Given the description of an element on the screen output the (x, y) to click on. 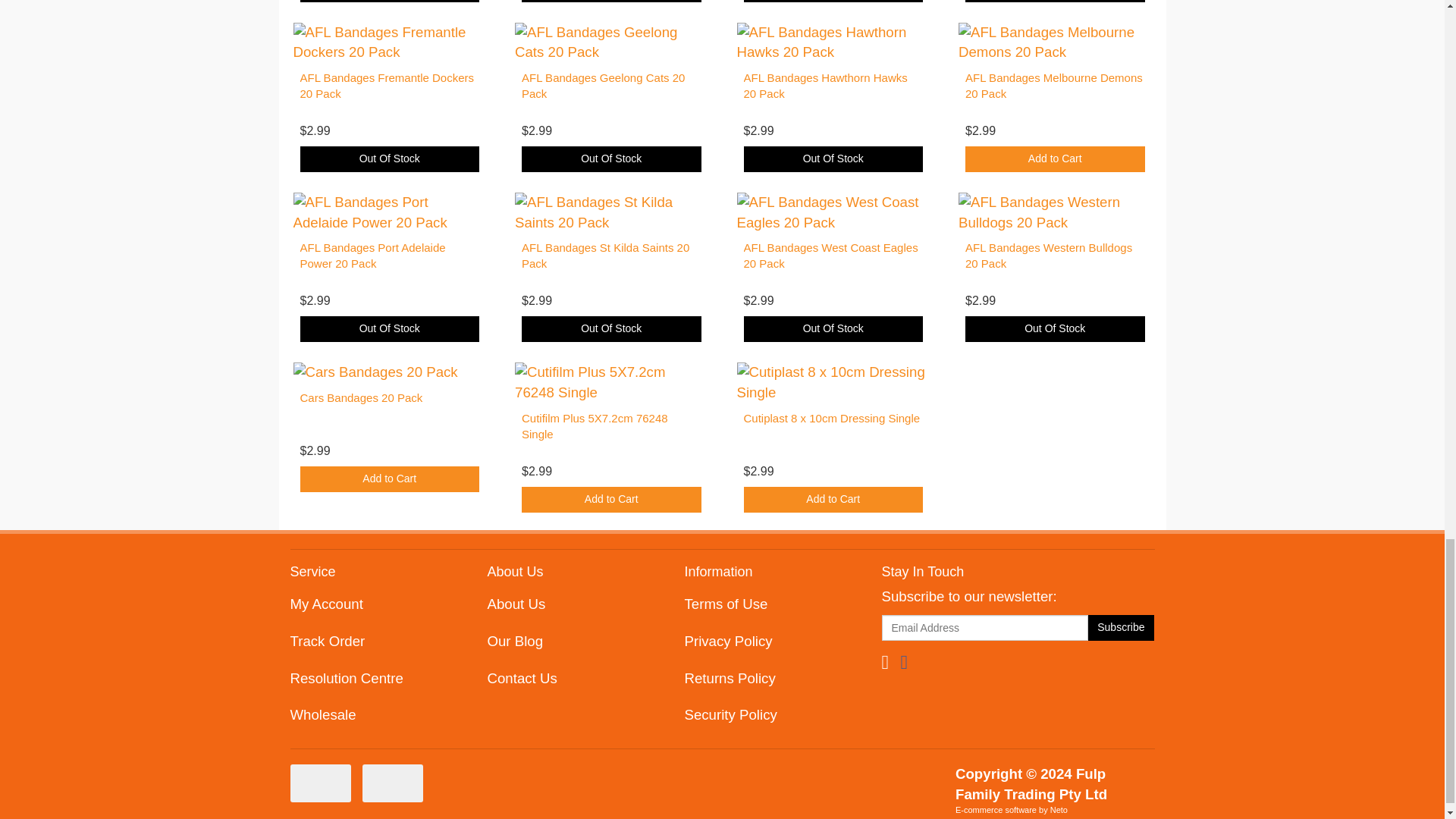
AFL Bandages Fremantle Dockers 20 Pack (386, 85)
Notify Me When Back In Stock (832, 158)
Subscribe (1120, 627)
AFL Bandages Hawthorn Hawks 20 Pack (824, 85)
Notify Me When Back In Stock (611, 158)
Add to Cart (1054, 158)
Notify Me When Back In Stock (832, 1)
AFL Bandages Melbourne Demons 20 Pack (1053, 85)
Notify Me When Back In Stock (611, 1)
Notify Me When Back In Stock (1054, 1)
